Given the description of an element on the screen output the (x, y) to click on. 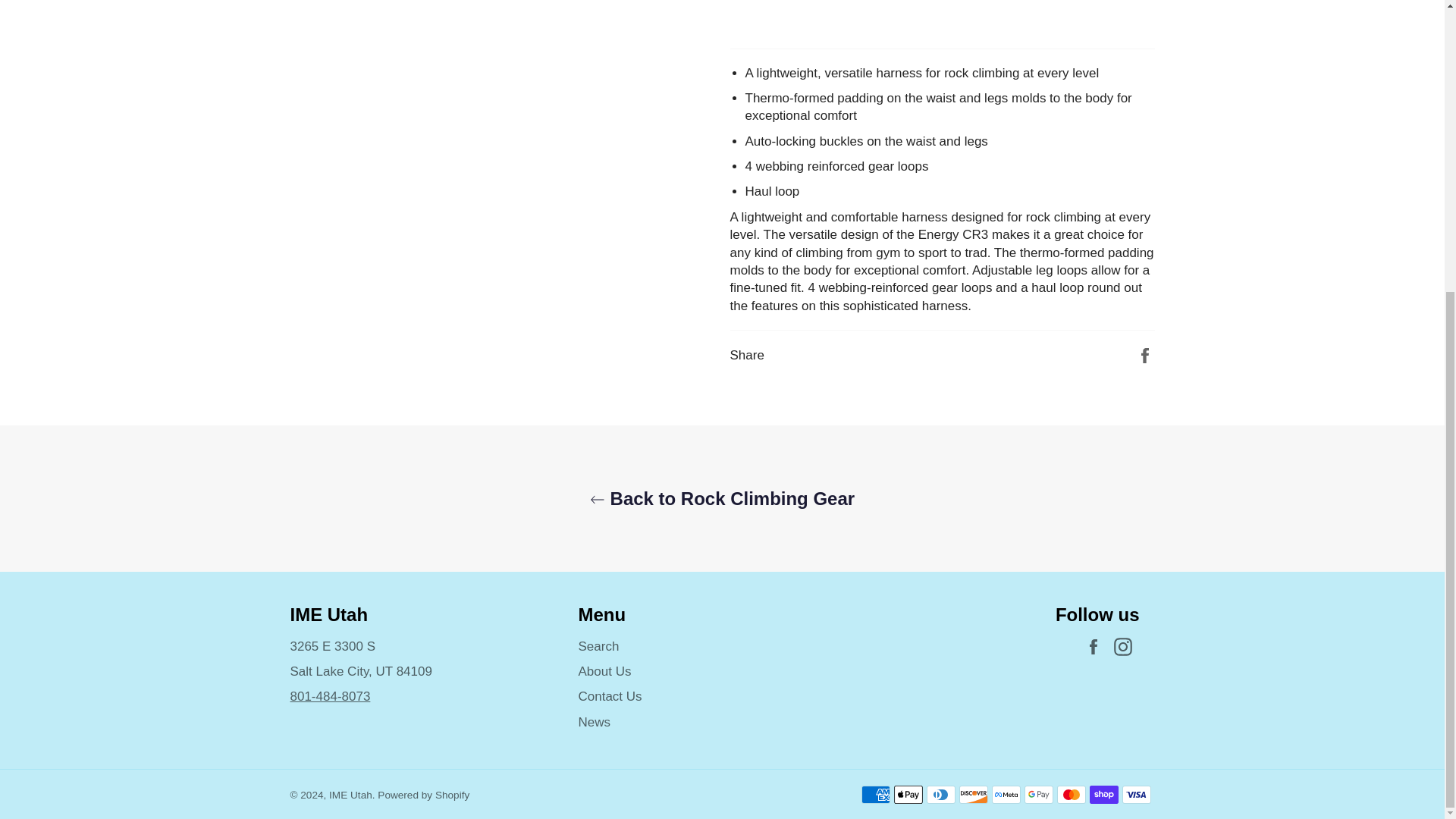
Share on Facebook (1144, 354)
IME Utah on Instagram (1125, 647)
IME Utah on Facebook (1096, 647)
